Given the description of an element on the screen output the (x, y) to click on. 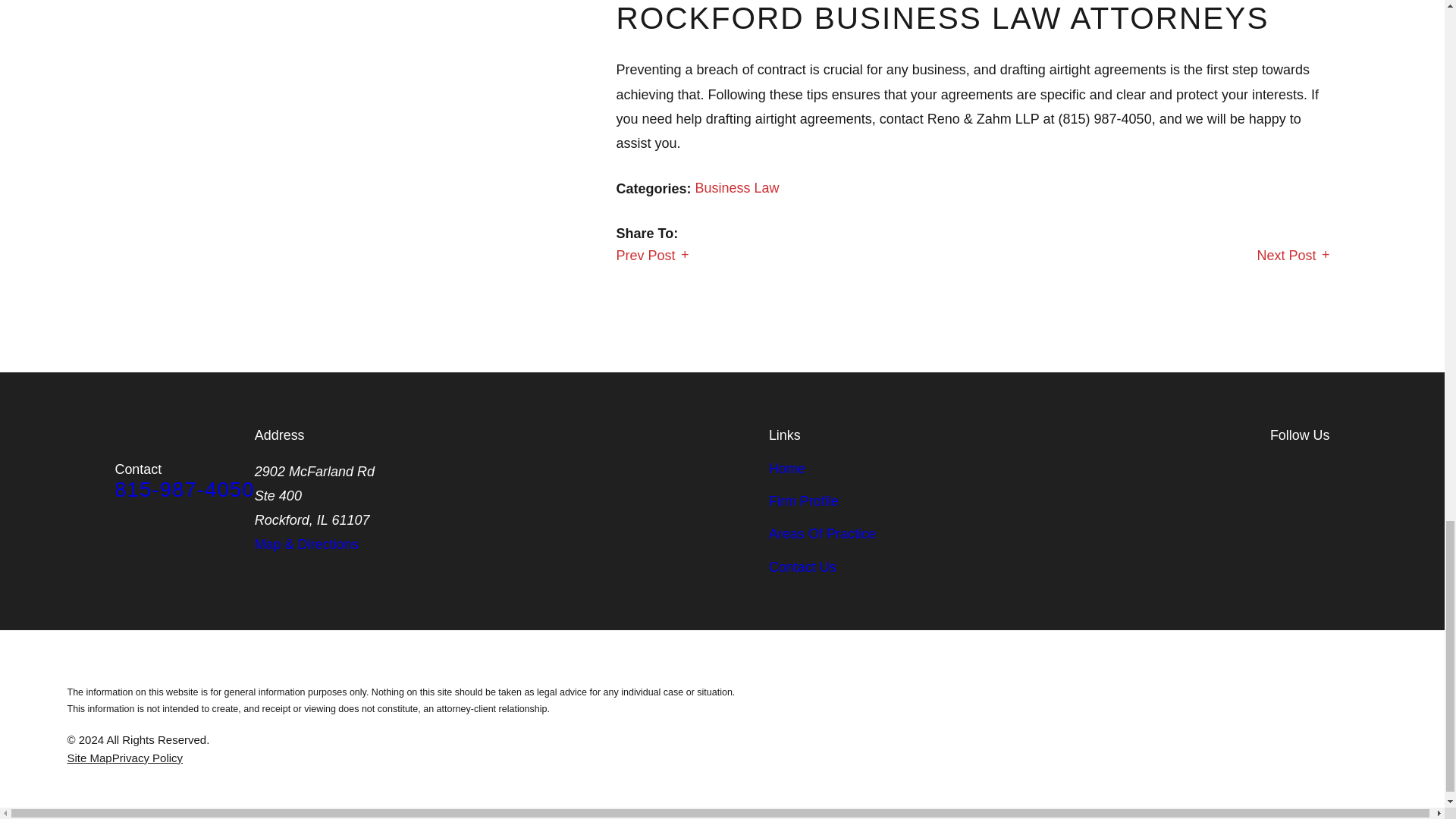
Facebook (1278, 468)
